Given the description of an element on the screen output the (x, y) to click on. 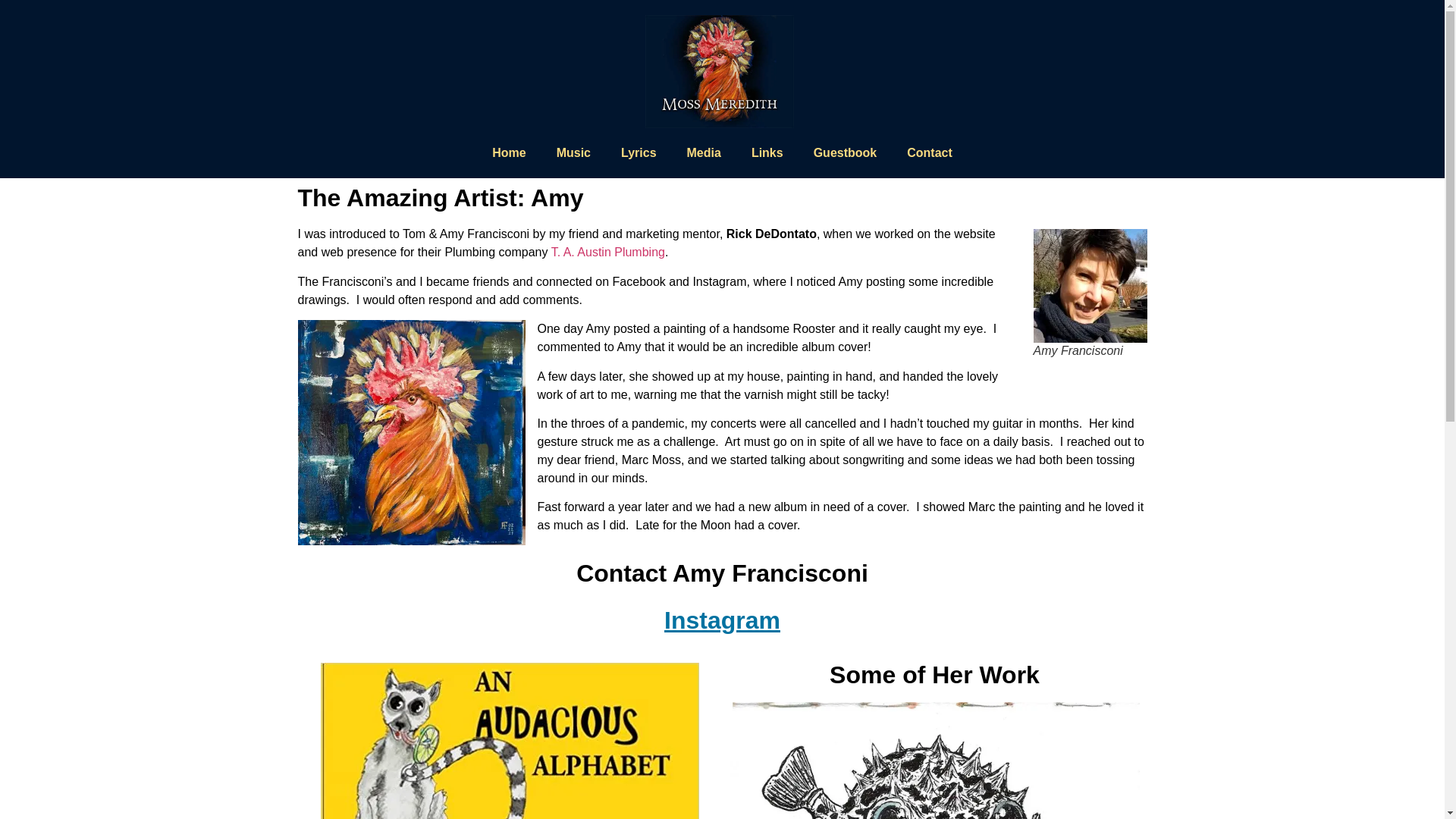
Contact (929, 152)
Links (766, 152)
T. A. Austin Plumbing (608, 251)
Media (703, 152)
Guestbook (844, 152)
Music (573, 152)
Lyrics (638, 152)
Instagram (721, 619)
Home (508, 152)
